Given the description of an element on the screen output the (x, y) to click on. 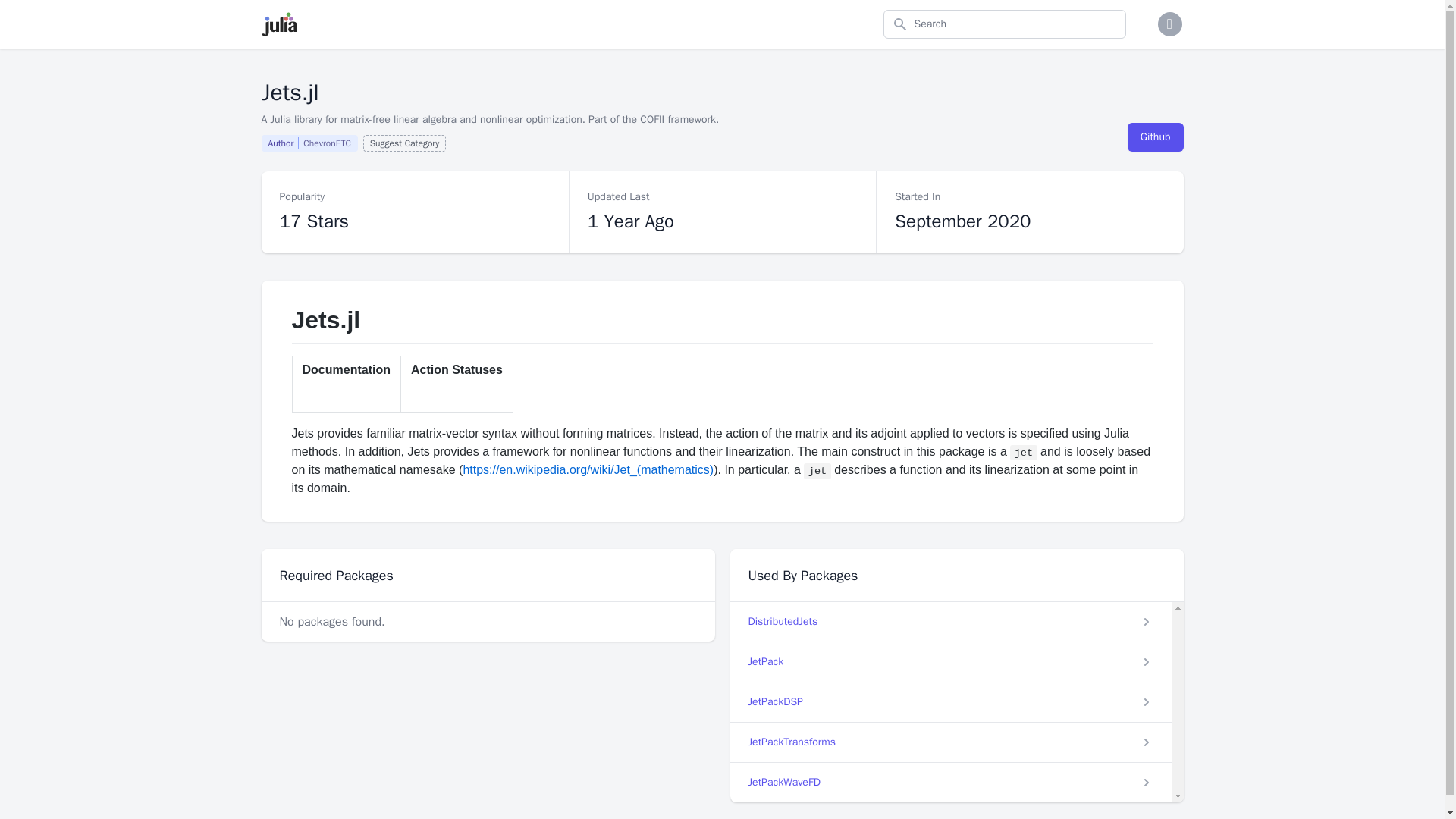
Github (1154, 136)
JetPackTransforms (950, 742)
JetPackDSP (950, 701)
JetPack (950, 661)
DistributedJets (311, 142)
Suggest Category (950, 621)
JetPackWaveFD (404, 143)
